Given the description of an element on the screen output the (x, y) to click on. 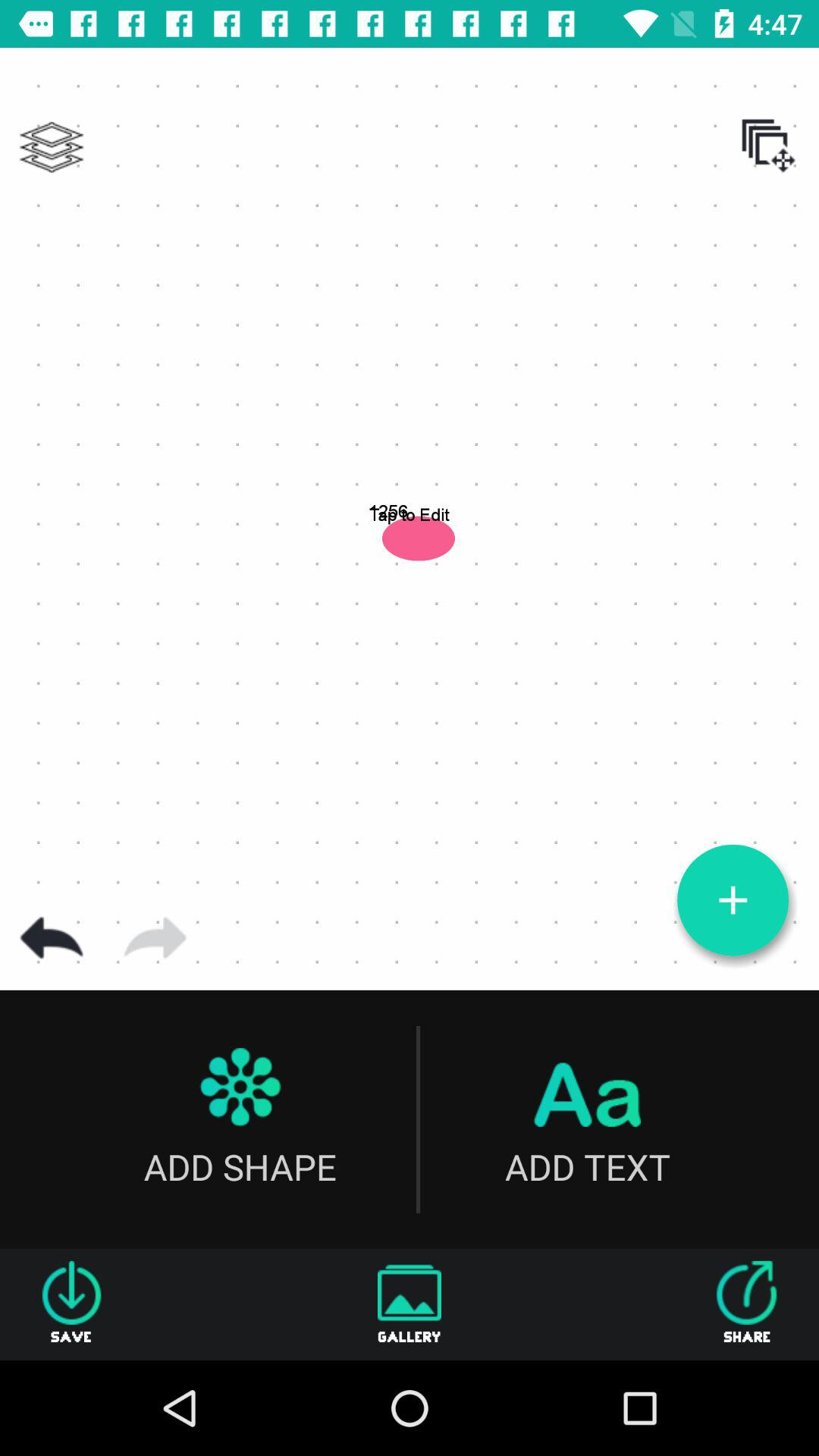
add new object (733, 900)
